Given the description of an element on the screen output the (x, y) to click on. 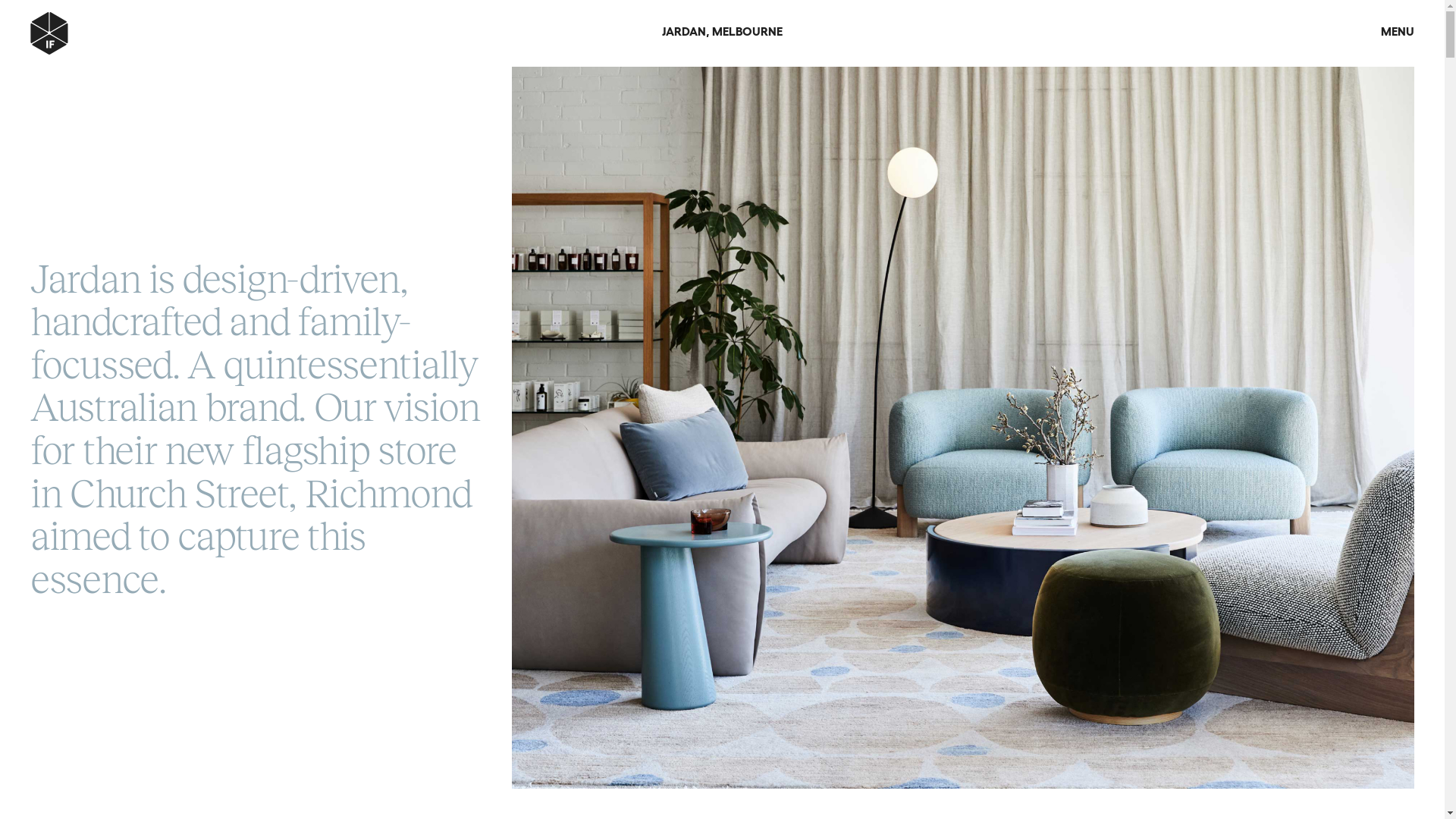
MENU Element type: text (1397, 30)
